Given the description of an element on the screen output the (x, y) to click on. 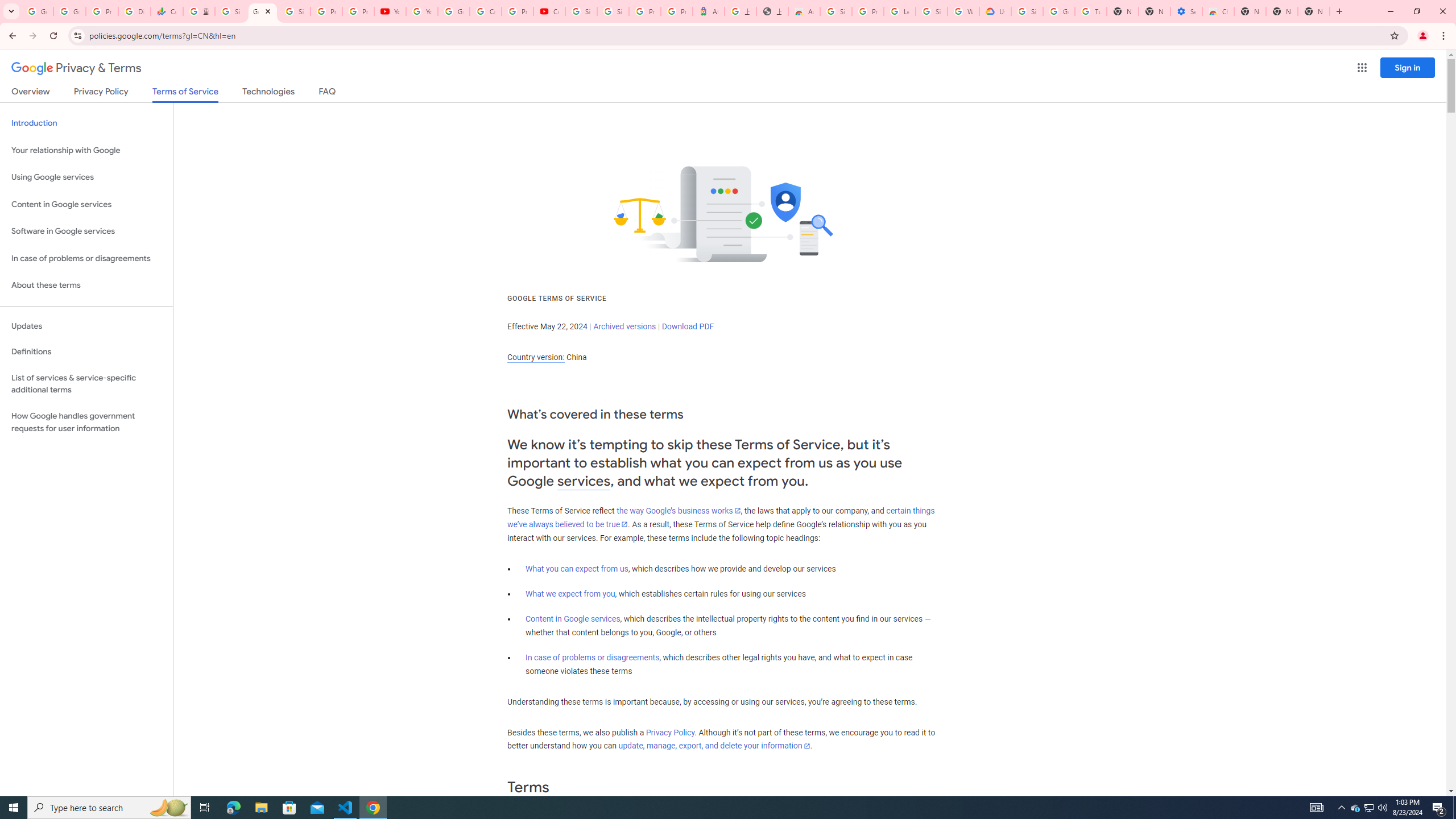
About these terms (86, 284)
Who are Google's partners? - Privacy and conditions - Google (963, 11)
Sign in - Google Accounts (836, 11)
